Given the description of an element on the screen output the (x, y) to click on. 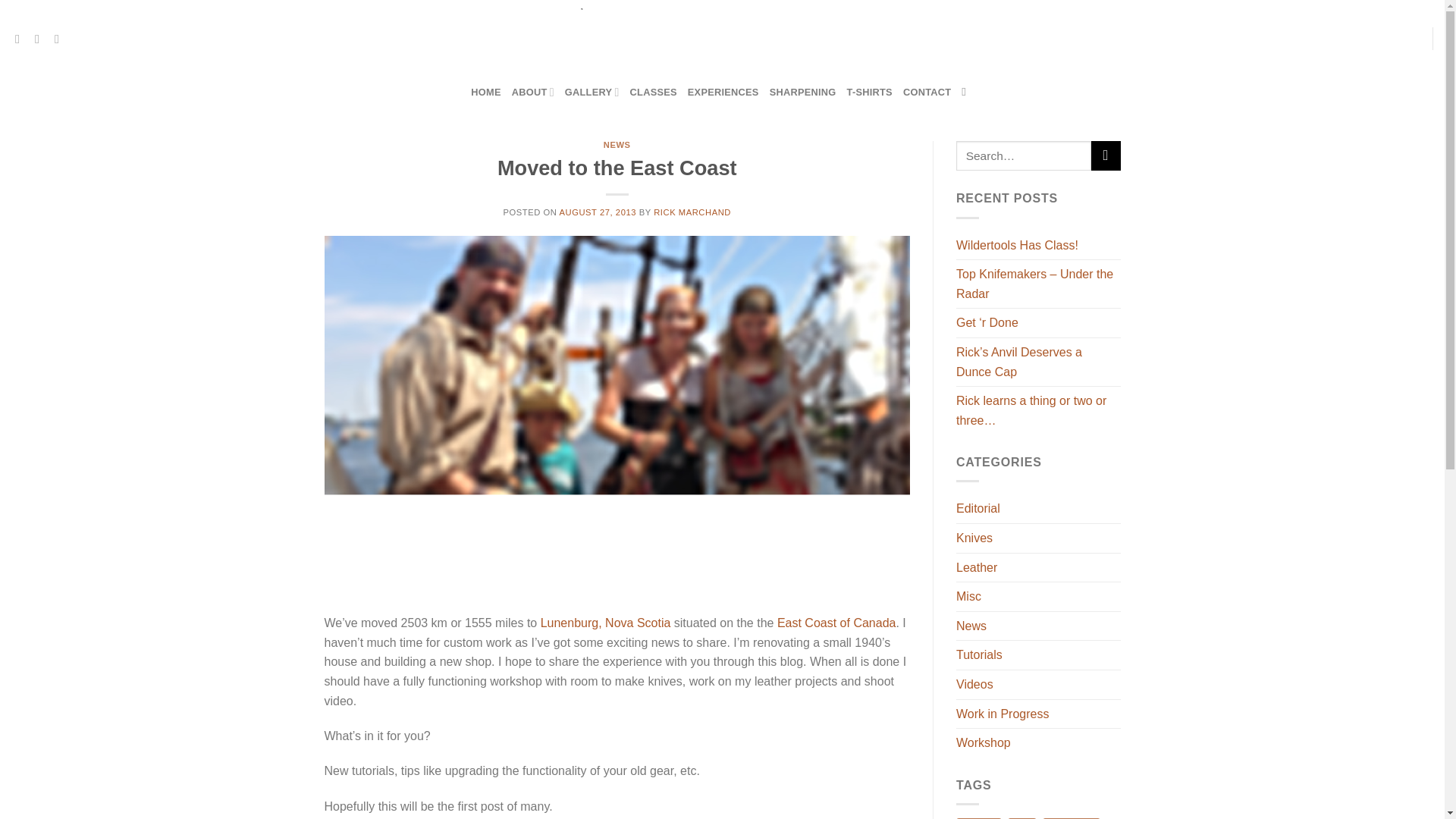
AUGUST 27, 2013 (597, 212)
Lunenburg: Where something old leads to something new (605, 622)
HOME (485, 92)
SHARPENING (802, 92)
EXPERIENCES (722, 92)
ABOUT (533, 91)
CLASSES (653, 92)
T-SHIRTS (869, 92)
NEWS (617, 144)
RICK MARCHAND (691, 212)
